Given the description of an element on the screen output the (x, y) to click on. 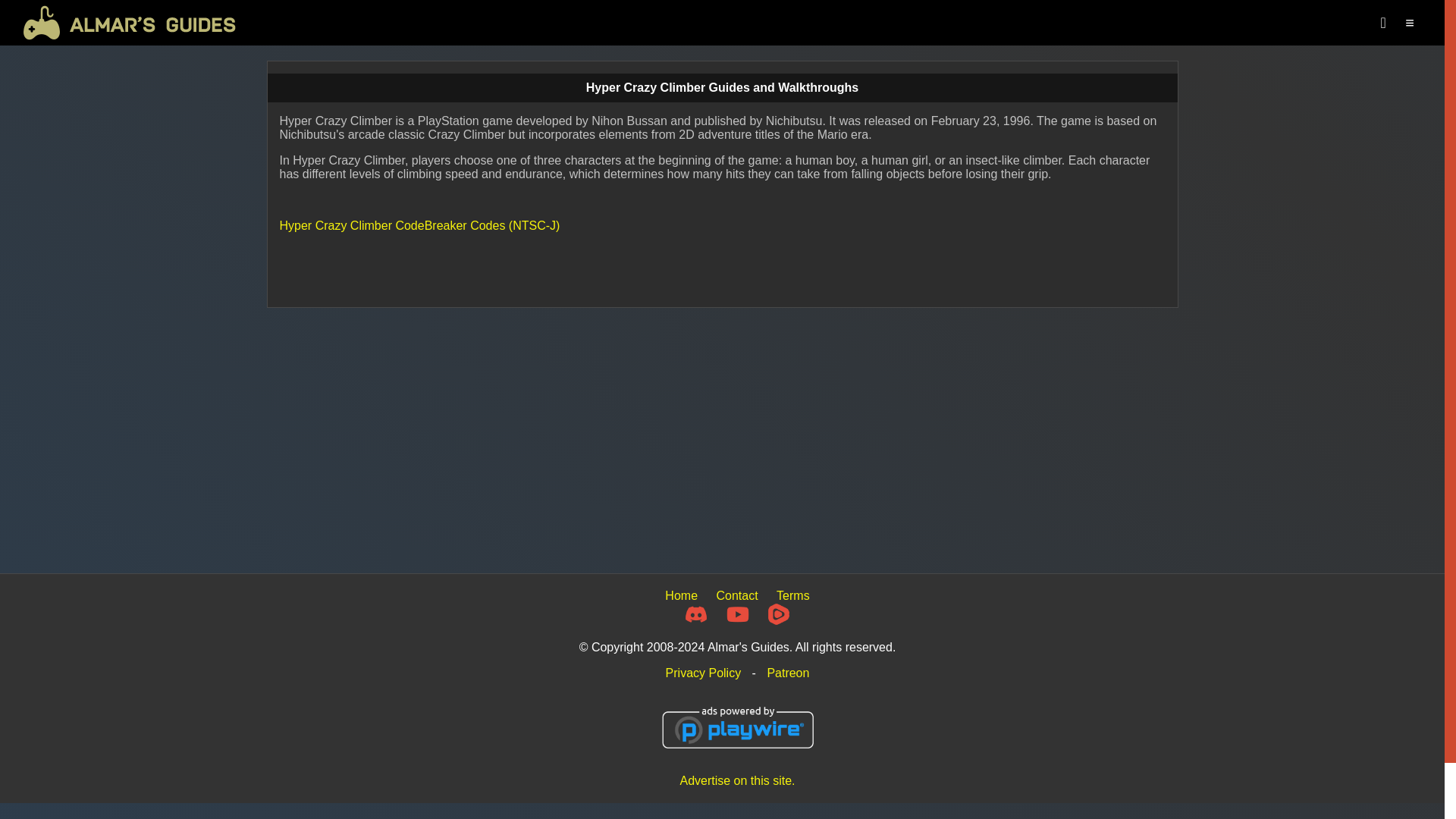
Rumble (778, 613)
Contact (736, 594)
Patreon (788, 672)
Privacy Policy (703, 672)
Advertise on this site. (736, 780)
Home (681, 594)
Terms (792, 594)
Youtube (737, 613)
Discord (695, 613)
